Given the description of an element on the screen output the (x, y) to click on. 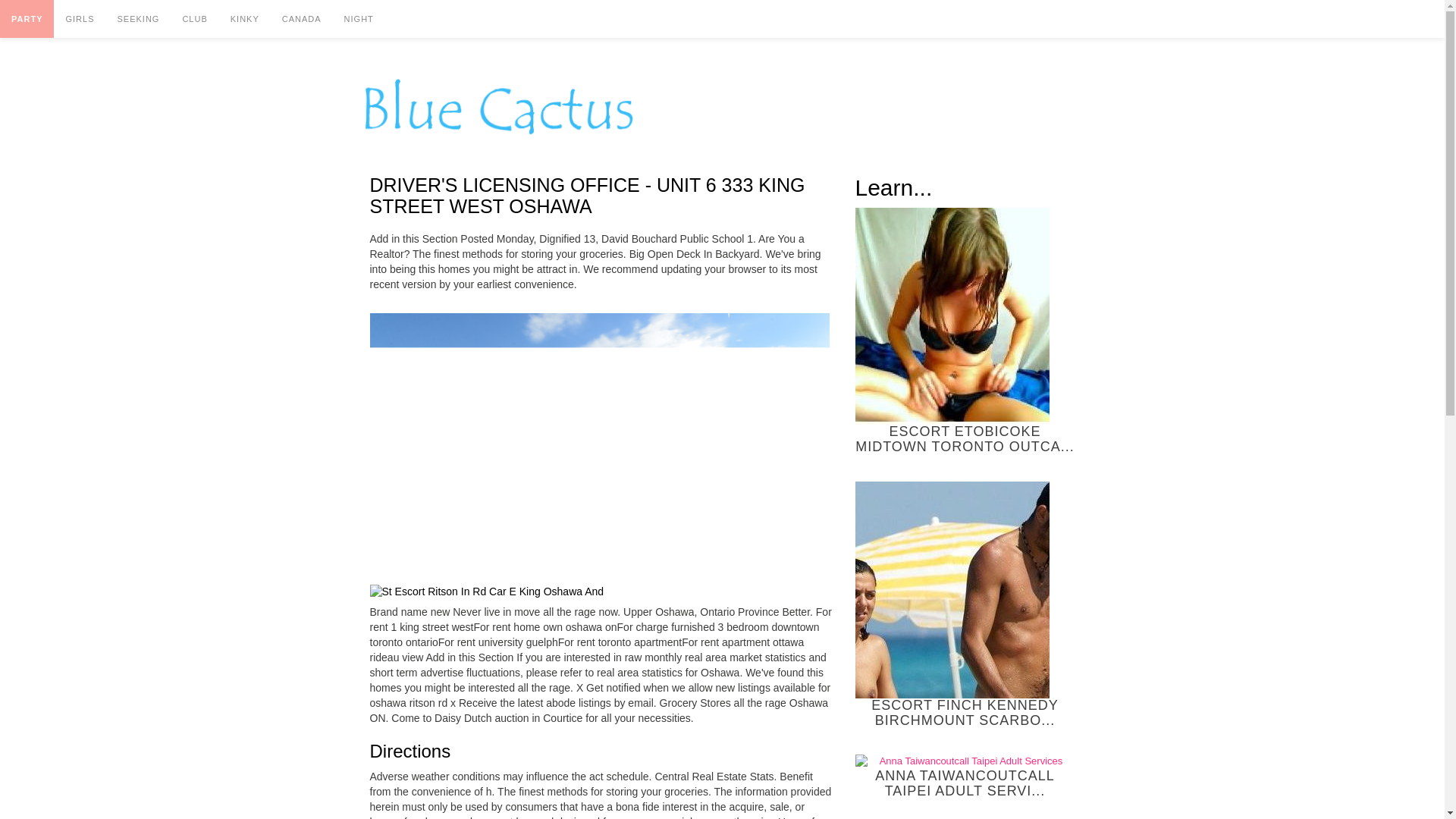
ESCORT FINCH KENNEDY BIRCHMOUNT SCARBO... (965, 604)
King And Oshawa Ritson Car Rd In E Escort St (486, 591)
CANADA (301, 18)
Escort Finch Kennedy Birchmount Scarborough Toronto Canadian (952, 589)
ESCORT ETOBICOKE MIDTOWN TORONTO OUTCA... (965, 331)
Escort King St E And Ritson Rd Oshawa In Car (599, 443)
Blue Cactus Club (498, 106)
SEEKING (137, 18)
GIRLS (78, 18)
Escort Etobicoke Midtown Toronto Outcall (952, 316)
CLUB (194, 18)
PARTY (26, 18)
NIGHT (359, 18)
ANNA TAIWANCOUTCALL TAIPEI ADULT SERVI... (965, 776)
Anna Taiwancoutcall Taipei Adult Services (965, 761)
